Given the description of an element on the screen output the (x, y) to click on. 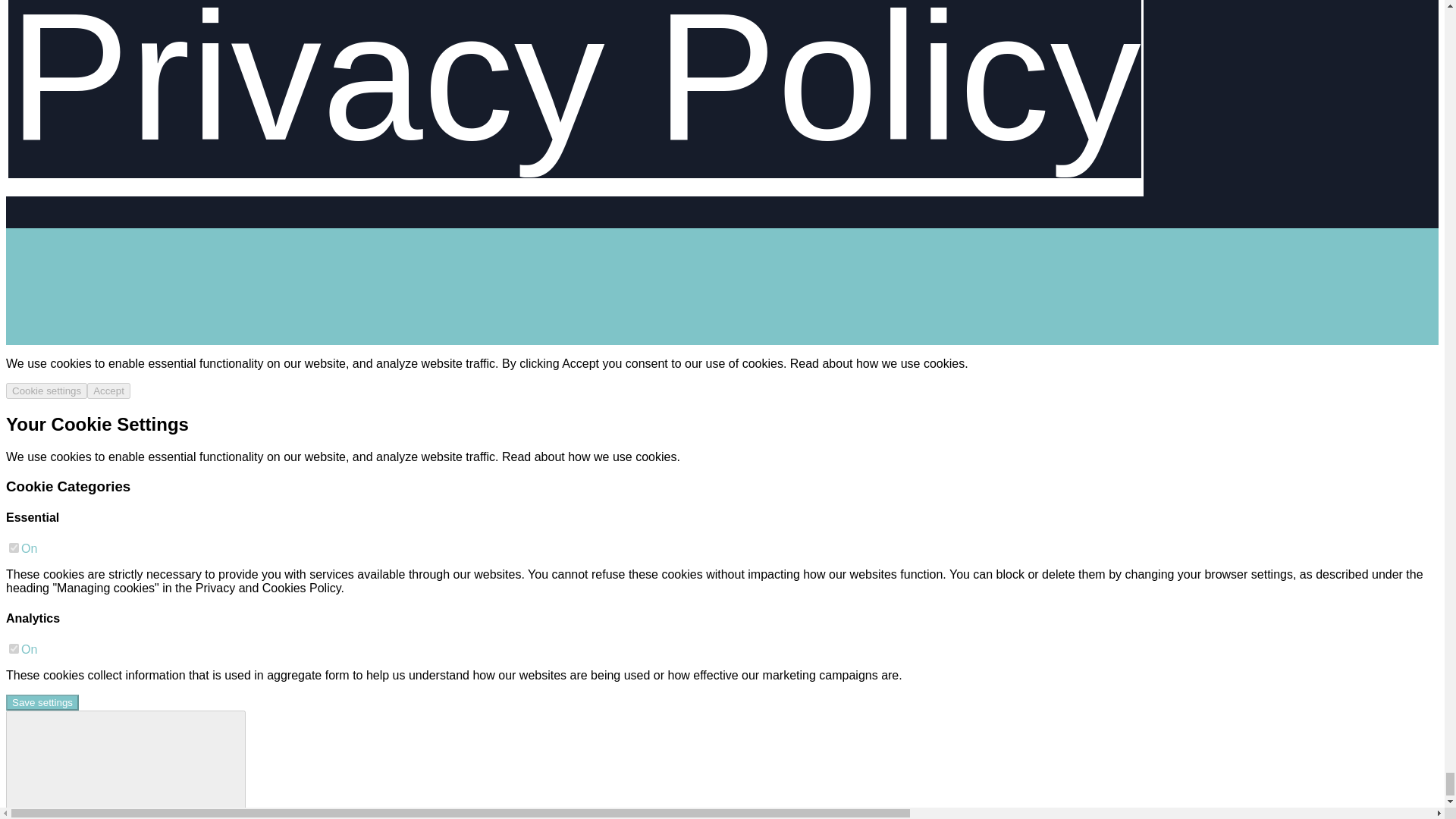
on (13, 547)
on (13, 648)
Read about how we use cookies (589, 456)
Read about how we use cookies. (879, 363)
Cookie settings (46, 390)
Save settings (41, 702)
Privacy and Cookies Policy (267, 587)
Accept (109, 390)
